Given the description of an element on the screen output the (x, y) to click on. 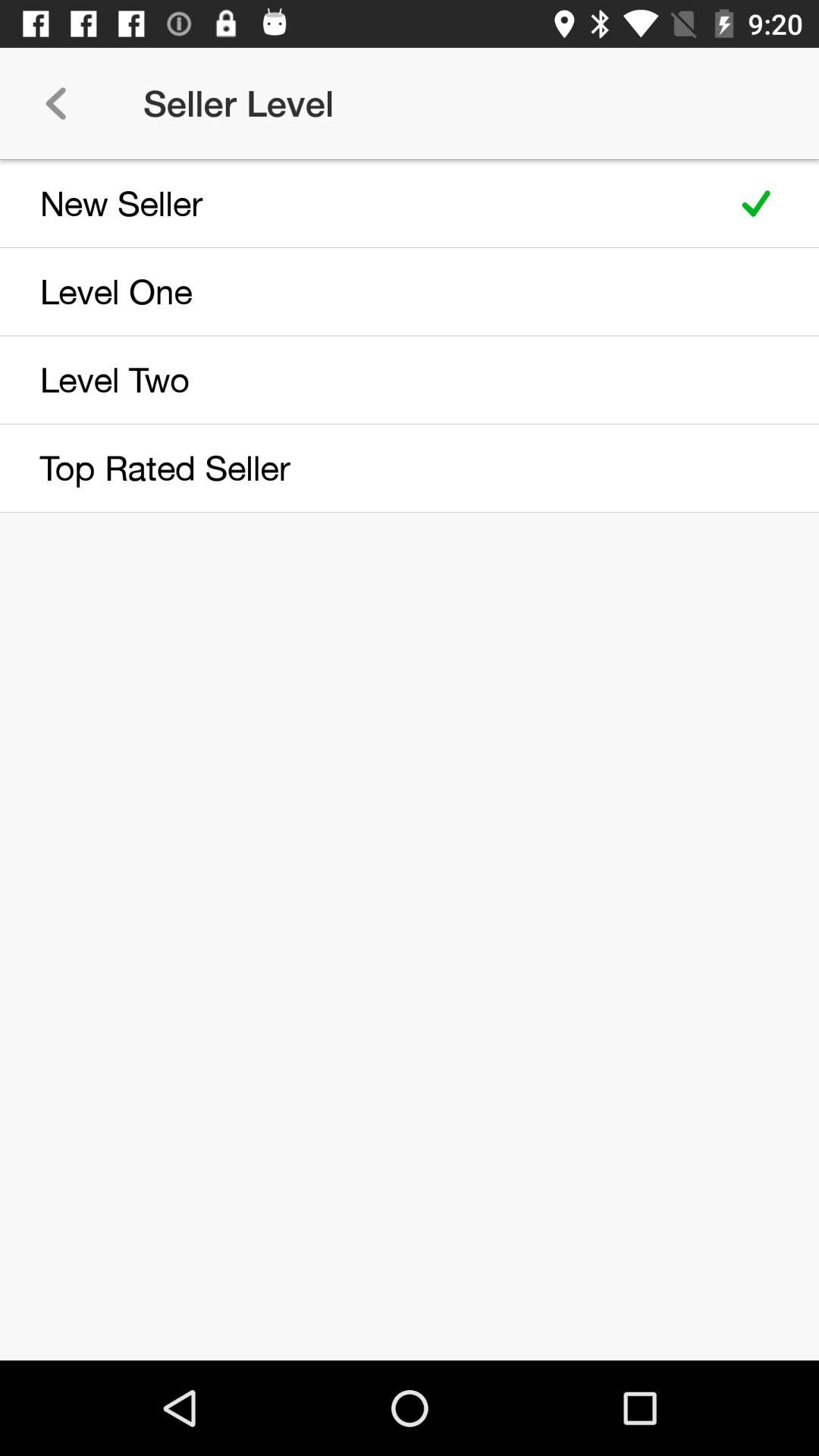
turn off icon above level one item (358, 203)
